Given the description of an element on the screen output the (x, y) to click on. 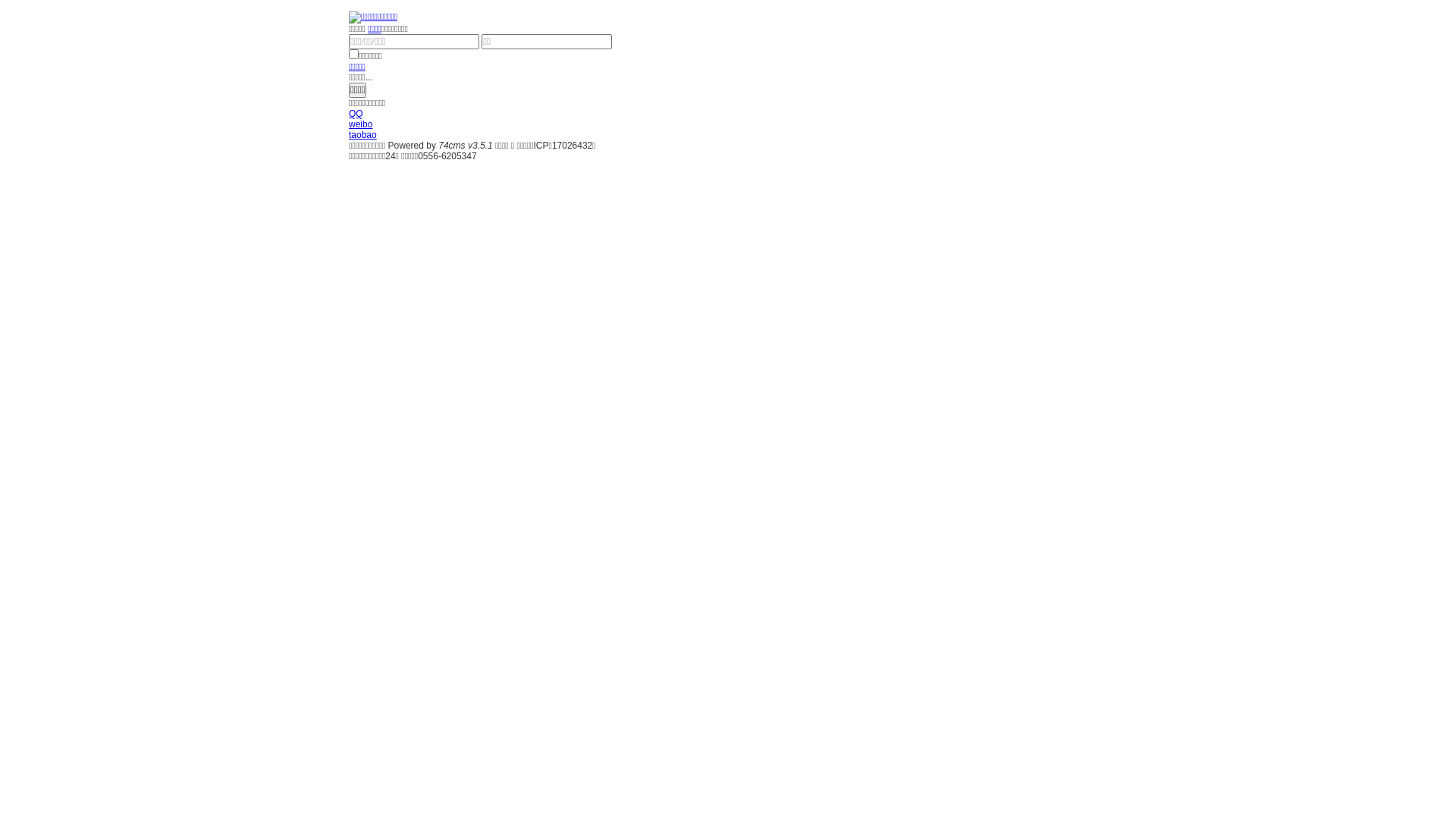
weibo Element type: text (360, 124)
QQ Element type: text (355, 113)
taobao Element type: text (362, 134)
